Given the description of an element on the screen output the (x, y) to click on. 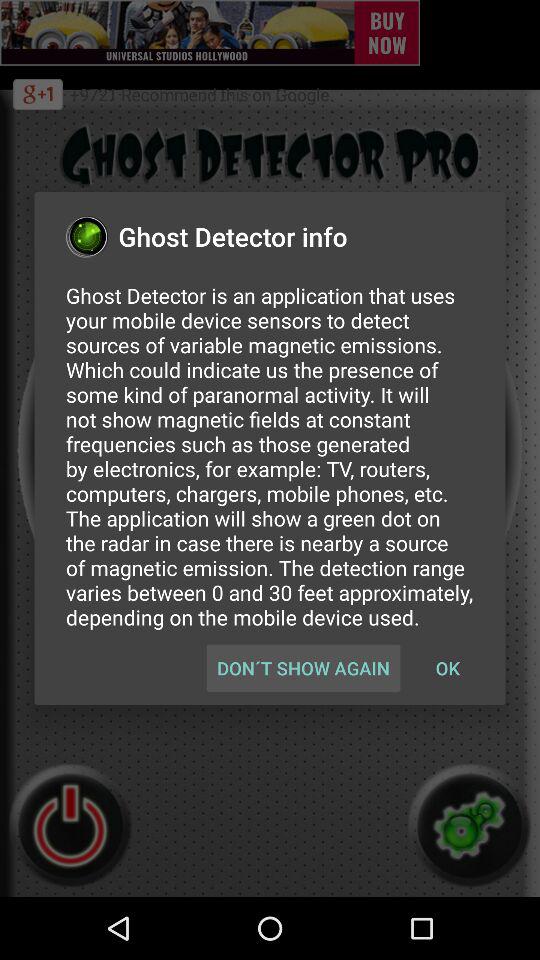
jump to ok button (447, 667)
